Given the description of an element on the screen output the (x, y) to click on. 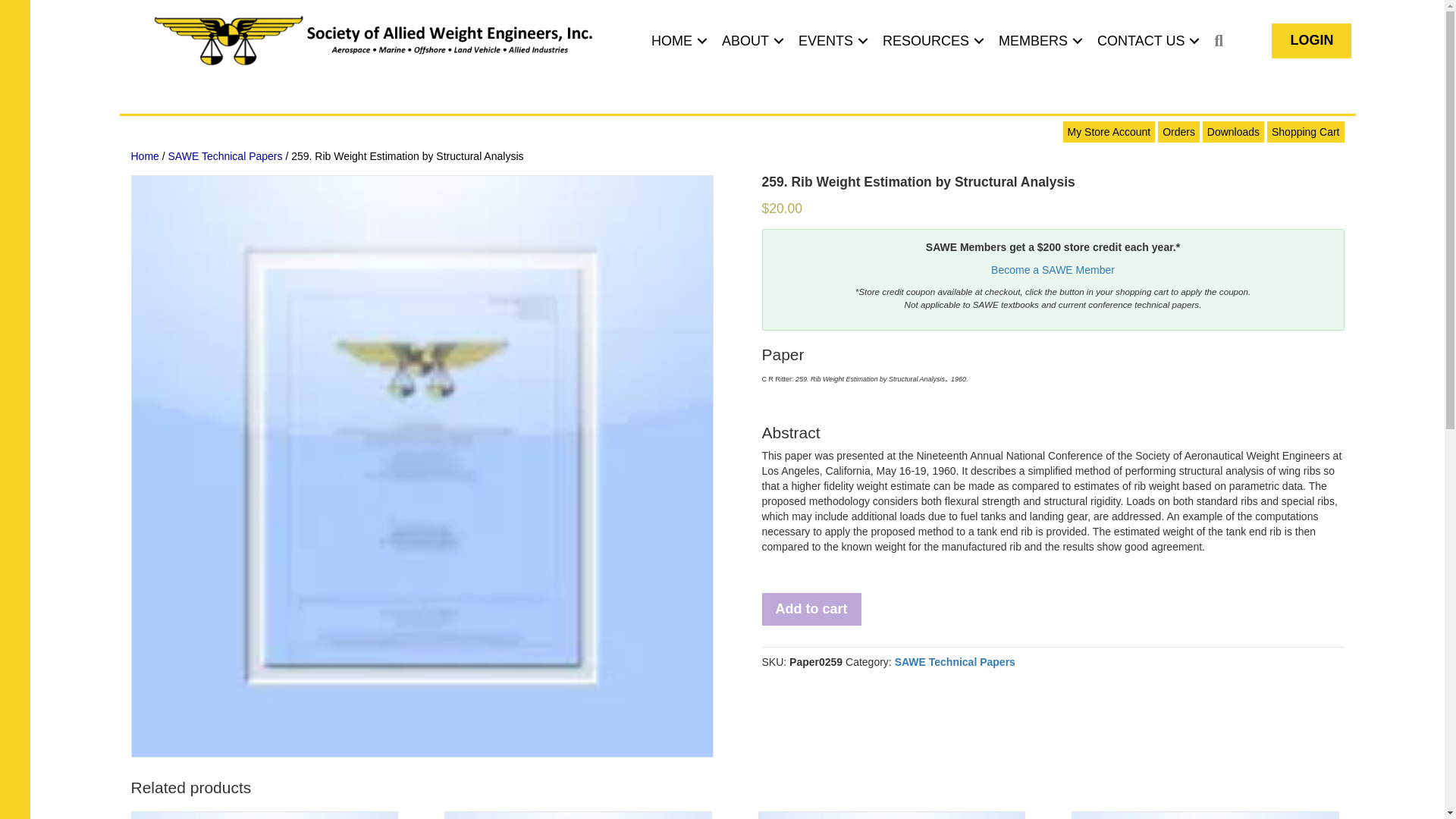
HOME (676, 40)
ABOUT (751, 40)
EVENTS (830, 40)
RESOURCES (930, 40)
